Given the description of an element on the screen output the (x, y) to click on. 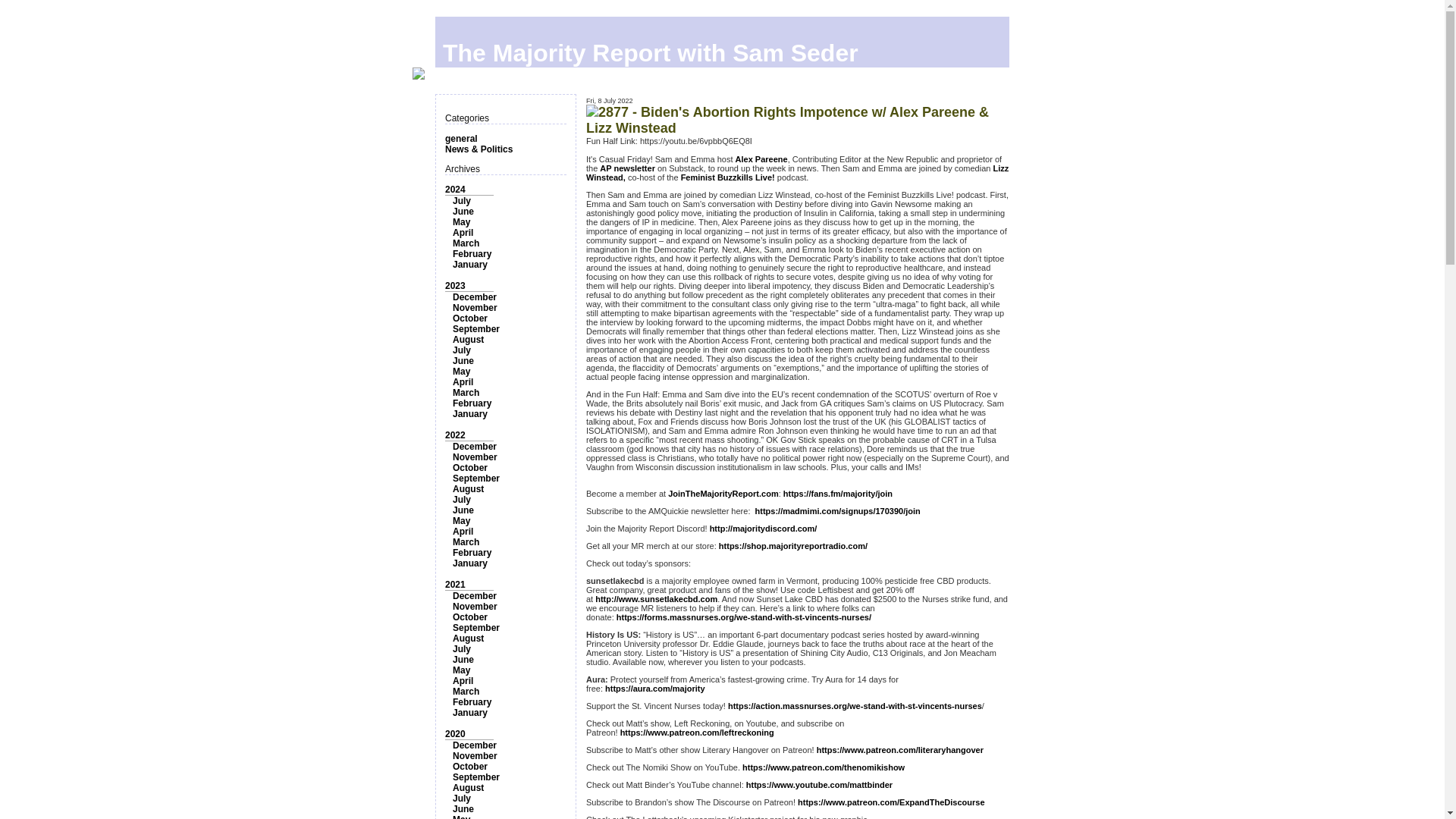
September (475, 478)
February (472, 552)
May (461, 520)
March (465, 542)
August (467, 489)
October (469, 317)
August (467, 339)
July (461, 200)
July (461, 499)
July (461, 349)
April (462, 381)
December (474, 595)
April (462, 531)
December (474, 446)
May (461, 222)
